Given the description of an element on the screen output the (x, y) to click on. 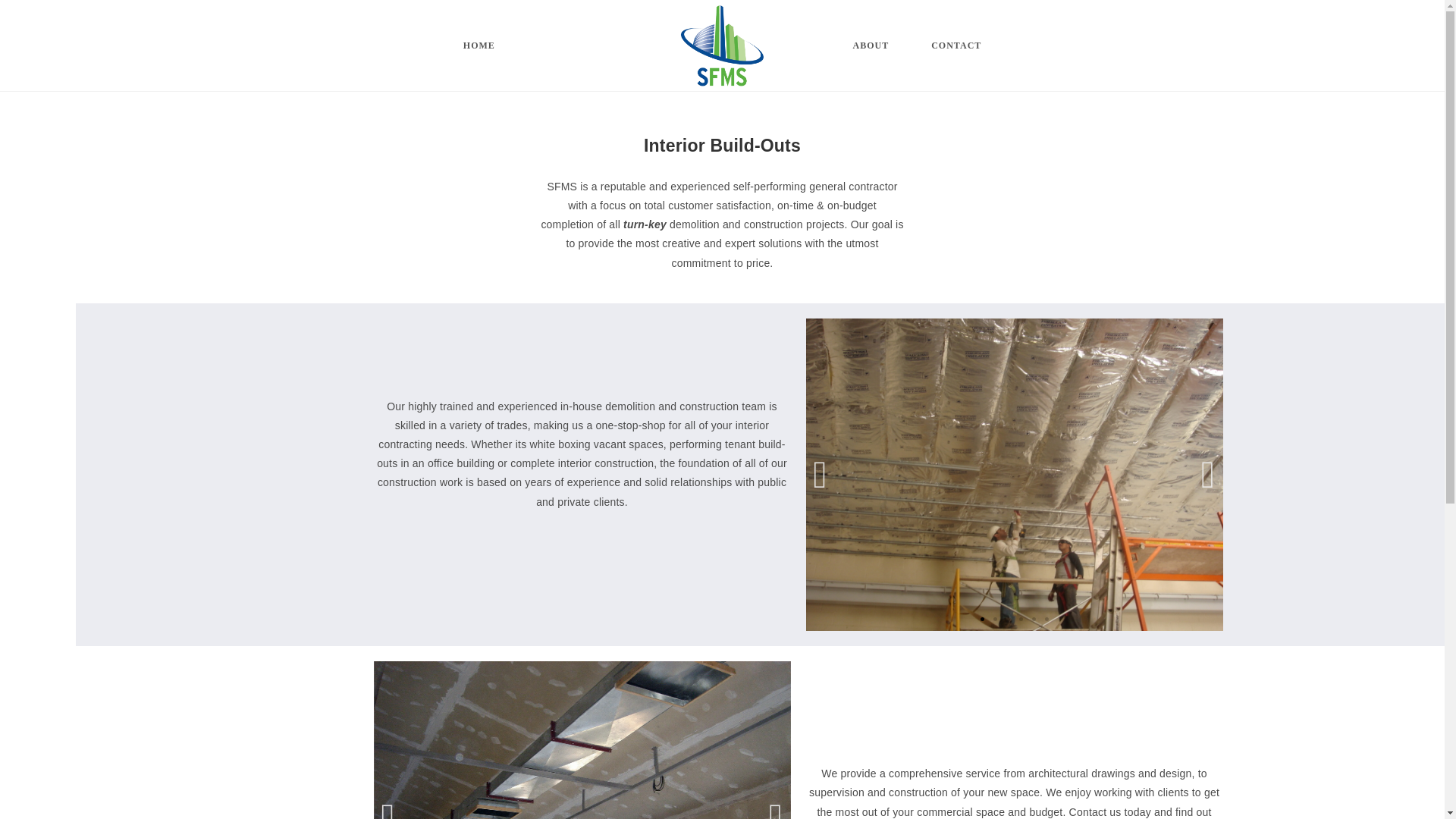
TWITTER (1060, 800)
FACEBOOK (1001, 800)
RSS (1167, 800)
ABOUT (870, 45)
HOME (479, 45)
INSTAGRAM (1118, 800)
CONTACT (956, 45)
DIVISIONS (564, 45)
